Given the description of an element on the screen output the (x, y) to click on. 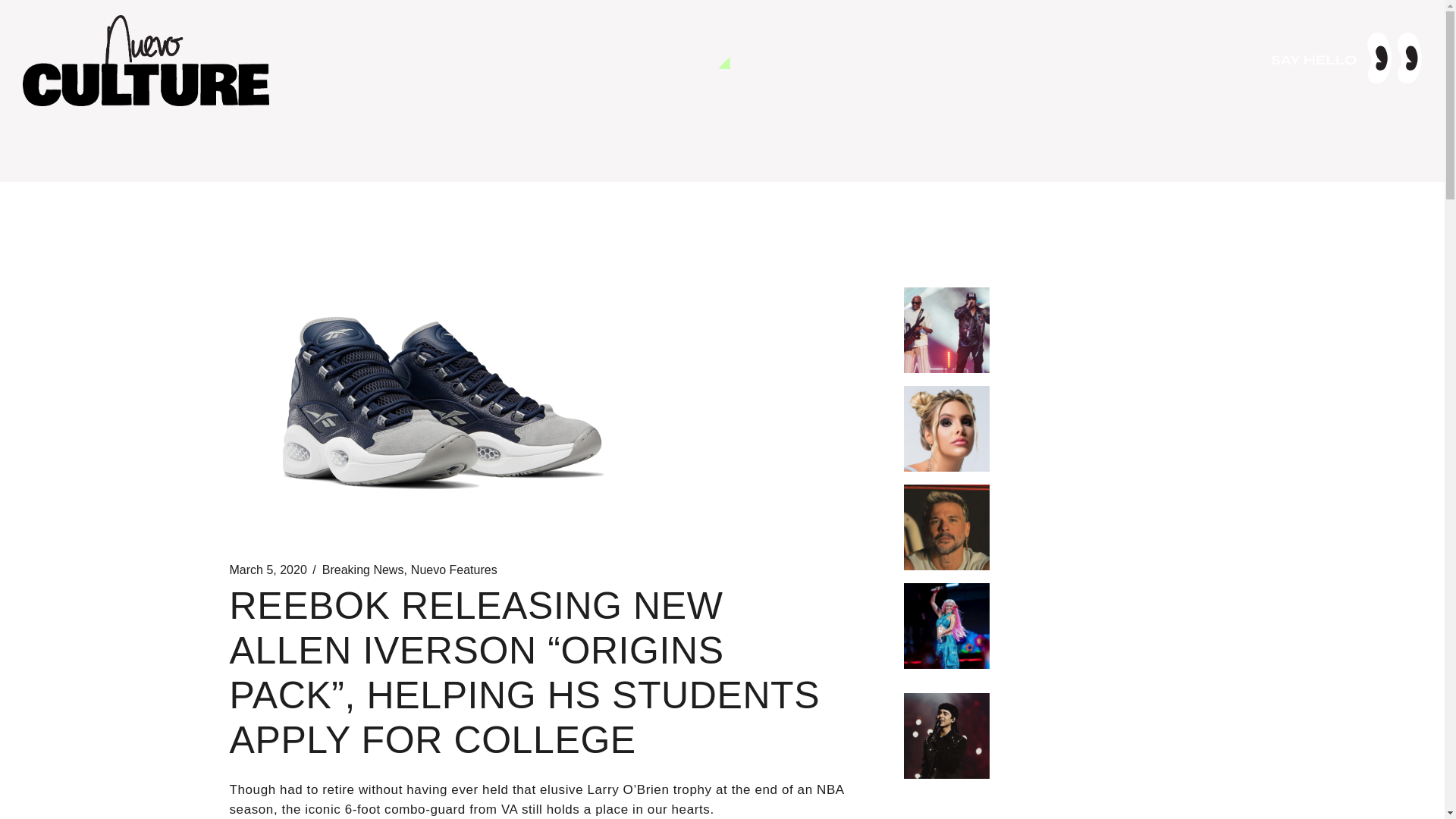
March 5, 2020 (266, 570)
Nuevo Features (453, 570)
Breaking News (362, 570)
